Given the description of an element on the screen output the (x, y) to click on. 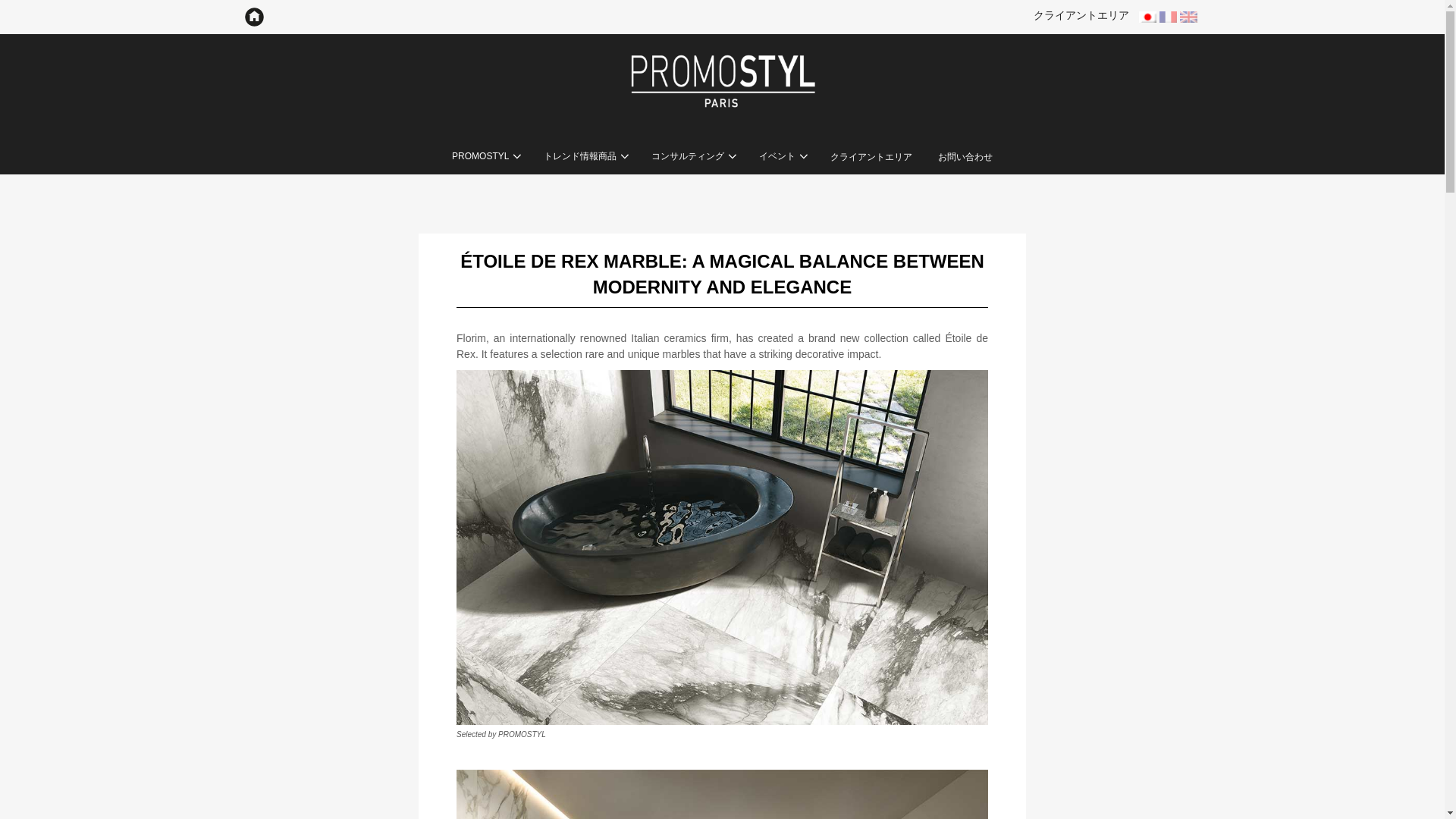
PROMOSTYL (484, 157)
